Given the description of an element on the screen output the (x, y) to click on. 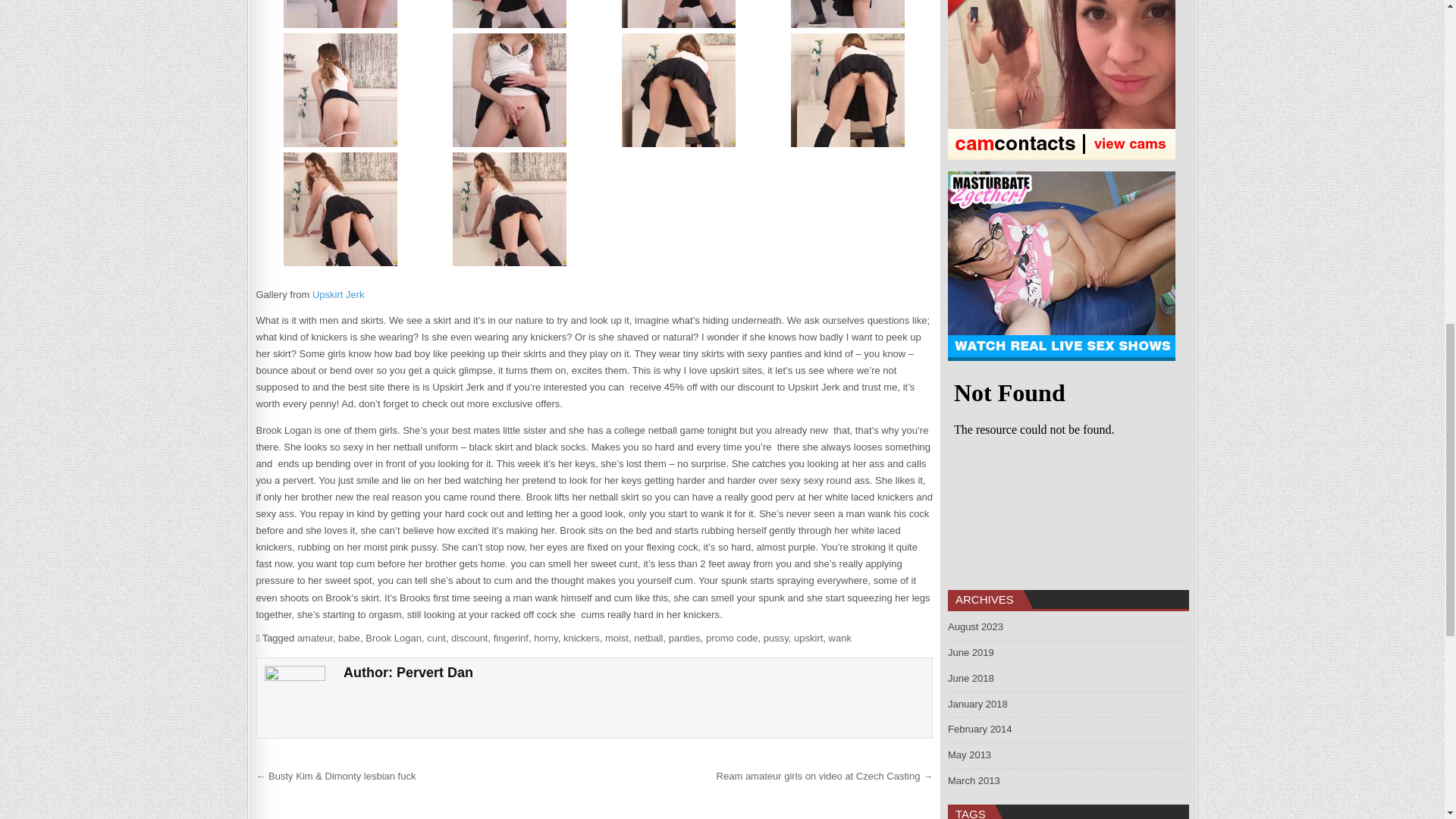
discount (469, 637)
Upskirt Jerk (339, 294)
cunt (435, 637)
moist (616, 637)
knickers (581, 637)
amateur (315, 637)
fingerinf (510, 637)
babe (348, 637)
promo code (732, 637)
panties (684, 637)
